Given the description of an element on the screen output the (x, y) to click on. 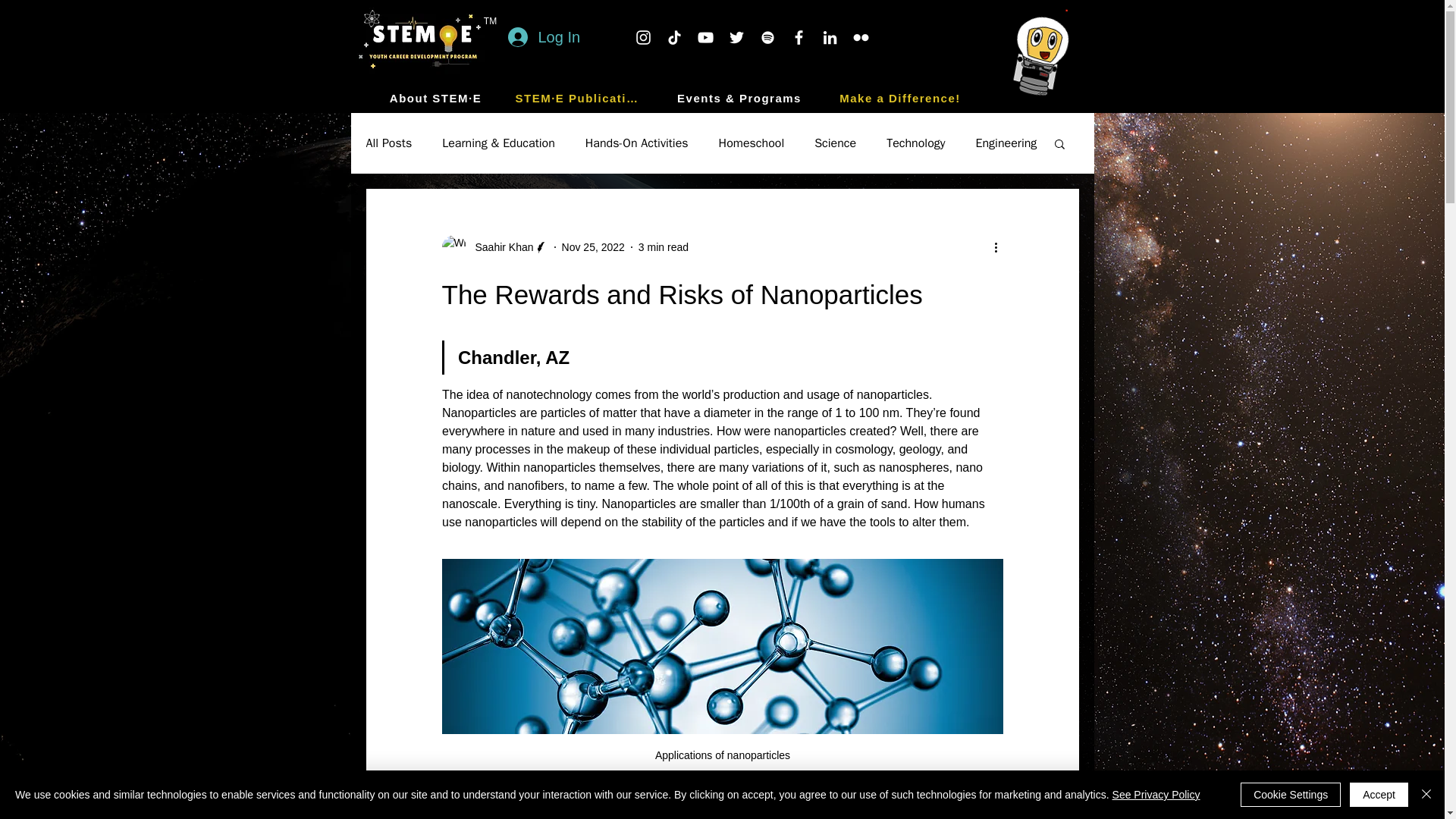
Engineering (1005, 142)
All Posts (388, 142)
Technology (915, 142)
Make a Difference! (901, 97)
Science (834, 142)
Nov 25, 2022 (593, 246)
Log In (542, 36)
3 min read (663, 246)
Huey, the STEME Mascot (1025, 48)
Saahir Khan (498, 247)
Hands-On Activities (636, 142)
Homeschool (751, 142)
